Given the description of an element on the screen output the (x, y) to click on. 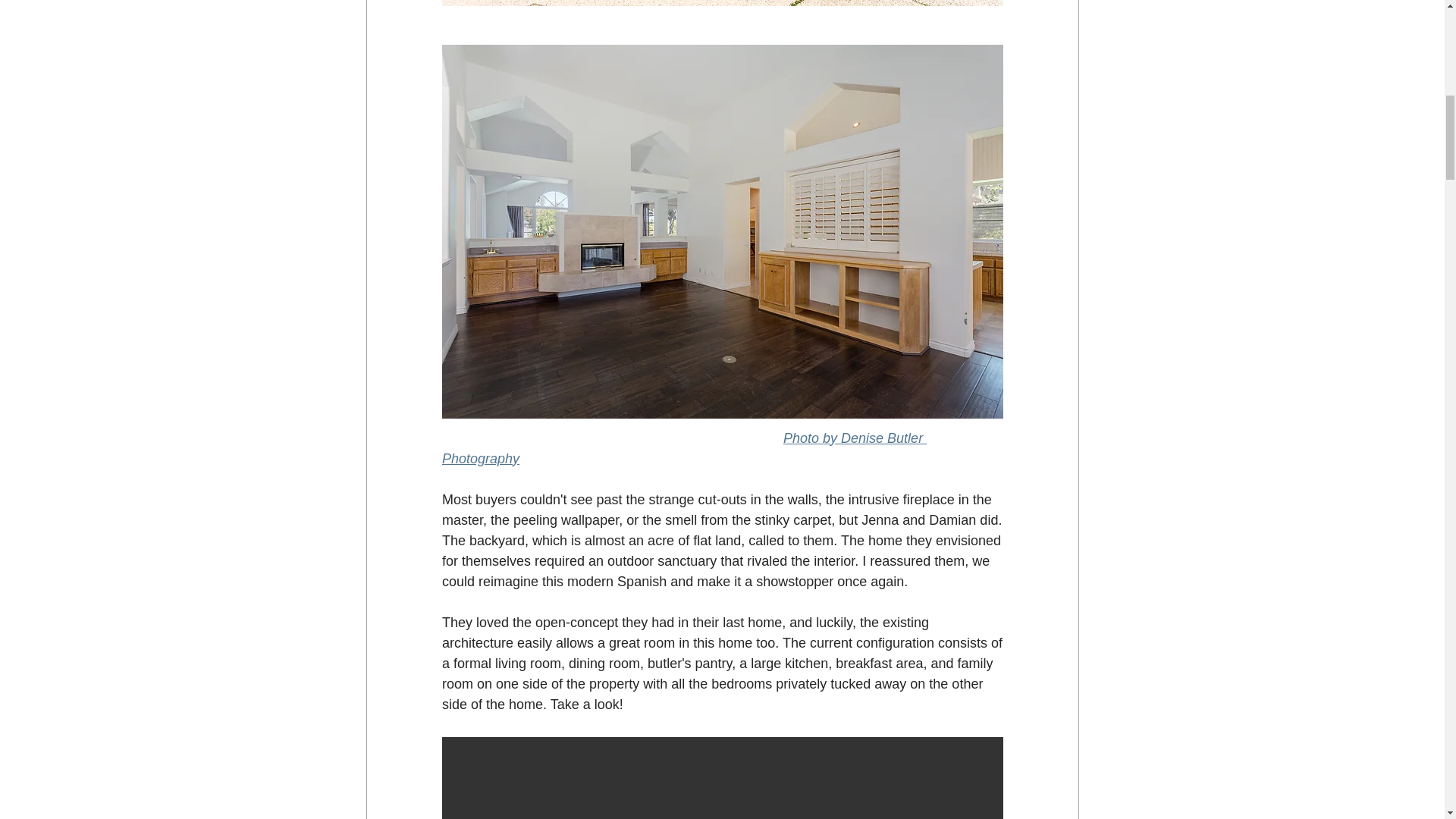
Photo by Denise Butler Photography (683, 448)
